Given the description of an element on the screen output the (x, y) to click on. 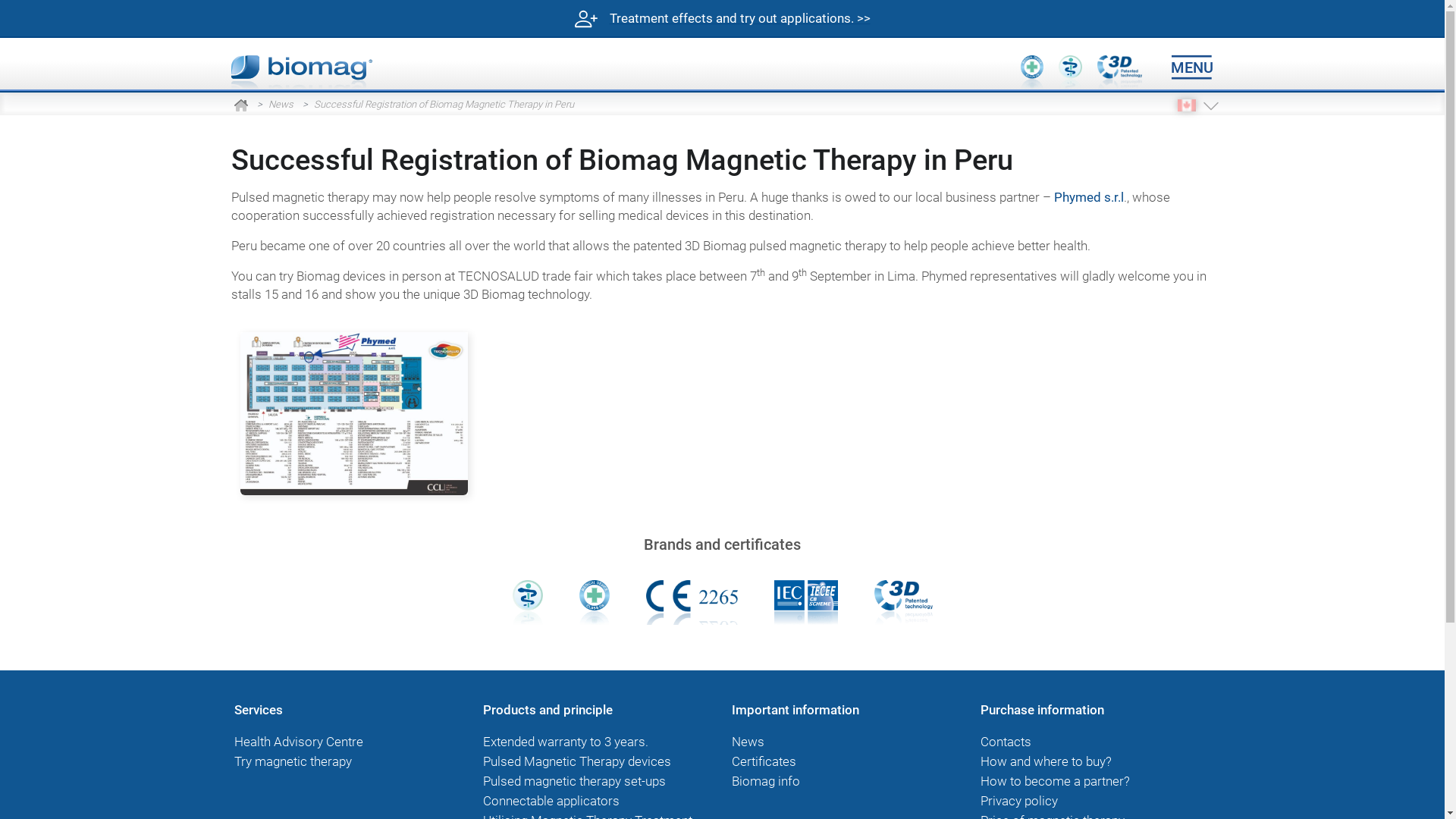
3D patented technology therapy Element type: hover (1119, 72)
CB Test Certificate Element type: hover (805, 600)
Pulsed magnetic therapy set-ups Element type: text (573, 780)
3D patented technology therapy Element type: hover (902, 600)
Try magnetic therapy Element type: text (292, 760)
Connectable applicators Element type: text (550, 800)
Products and principle Element type: text (546, 709)
Notified Body No. 2265 for product certificate Element type: hover (691, 600)
Privacy policy Element type: text (1018, 800)
Treatment effects and try out applications. >> Element type: text (722, 18)
Services Element type: text (257, 709)
Extended warranty to 3 years. Element type: text (564, 741)
News Element type: text (280, 103)
EN CA Element type: hover (1185, 105)
Medical device Element type: hover (1069, 72)
Medical device Element type: hover (527, 600)
MENU Element type: text (1192, 67)
How to become a partner? Element type: text (1054, 780)
Pulsed Magnetic Therapy devices Element type: text (576, 760)
Phymed s.r.l Element type: text (1088, 196)
Important information Element type: text (794, 709)
News Element type: text (747, 741)
Certificates Element type: text (763, 760)
How and where to buy? Element type: text (1044, 760)
Medical device class IIa Element type: hover (594, 600)
Phymed-LIma Element type: hover (353, 413)
Contacts Element type: text (1004, 741)
Purchase information Element type: text (1041, 709)
Biomag info Element type: text (765, 780)
Medical device class IIa Element type: hover (1031, 72)
Health Advisory Centre Element type: text (297, 741)
